Given the description of an element on the screen output the (x, y) to click on. 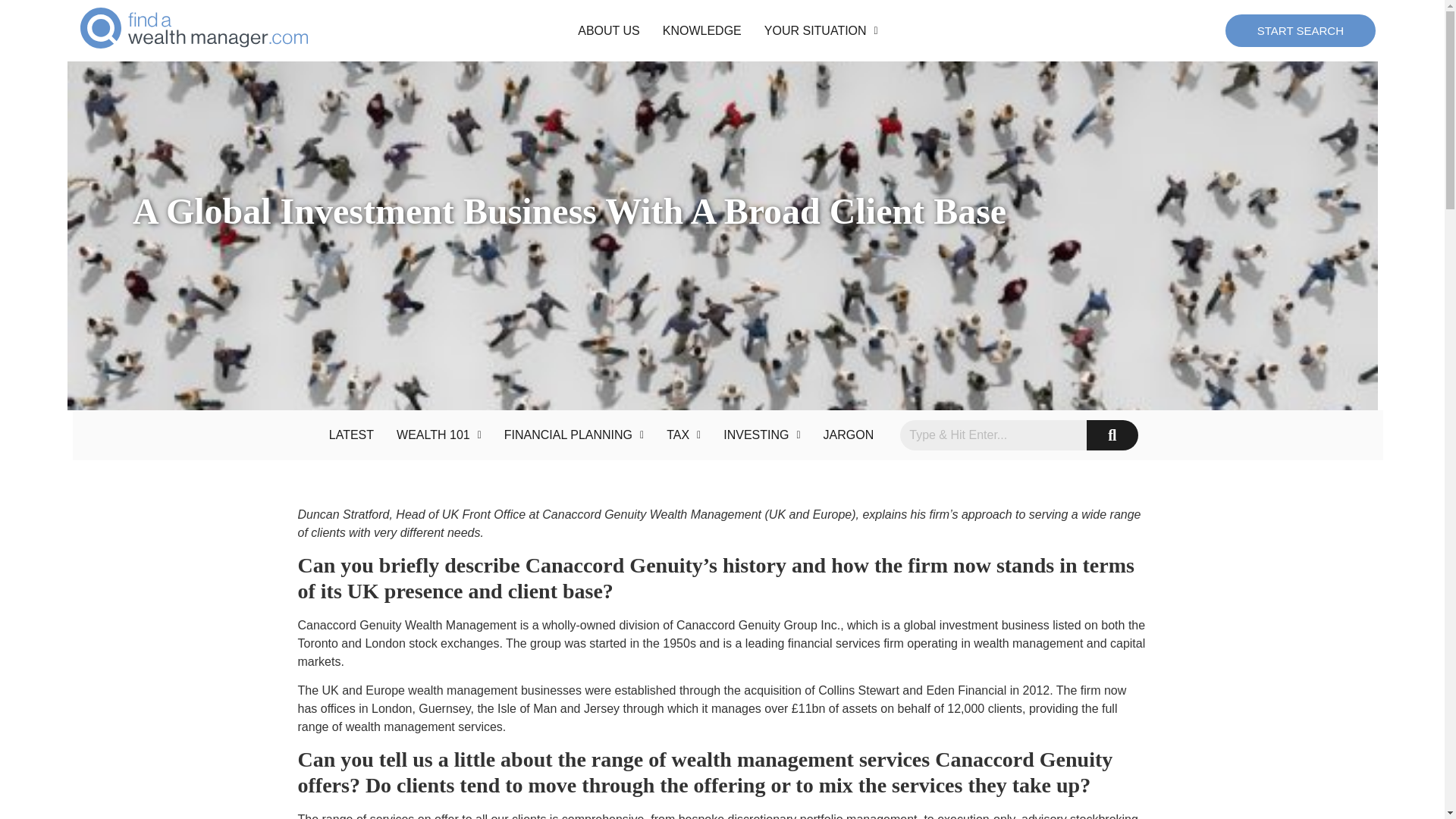
KNOWLEDGE (701, 30)
FINANCIAL PLANNING (574, 434)
LATEST (351, 434)
Search (992, 435)
INVESTING (760, 434)
ABOUT US (609, 30)
YOUR SITUATION (820, 30)
START SEARCH (1300, 30)
WEALTH 101 (439, 434)
TAX (683, 434)
